Given the description of an element on the screen output the (x, y) to click on. 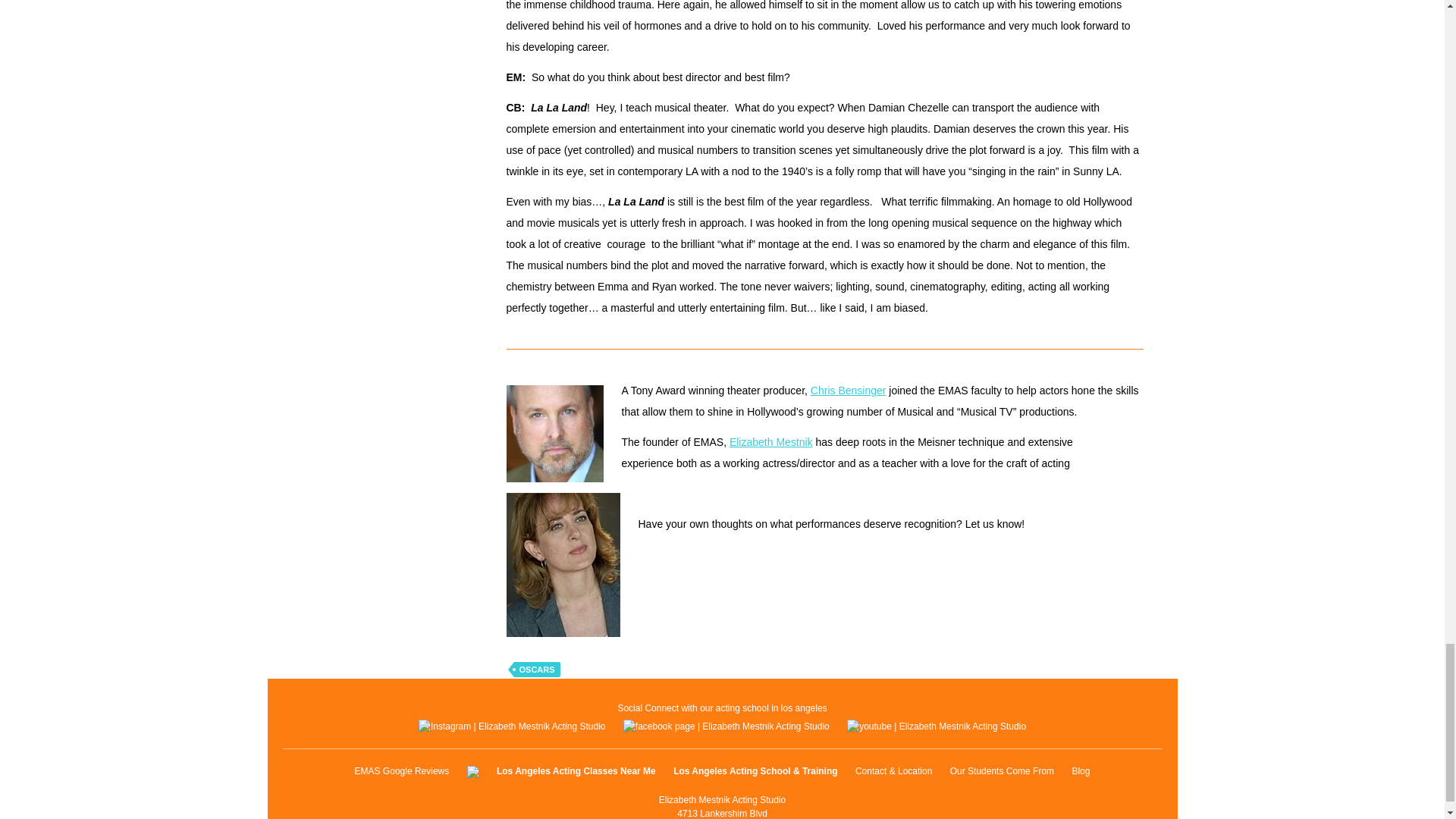
Chris Bensinger (848, 390)
Chris Bensinger (848, 390)
Elizabeth Mestnik (770, 441)
Elizabeth Mestnik (770, 441)
